Given the description of an element on the screen output the (x, y) to click on. 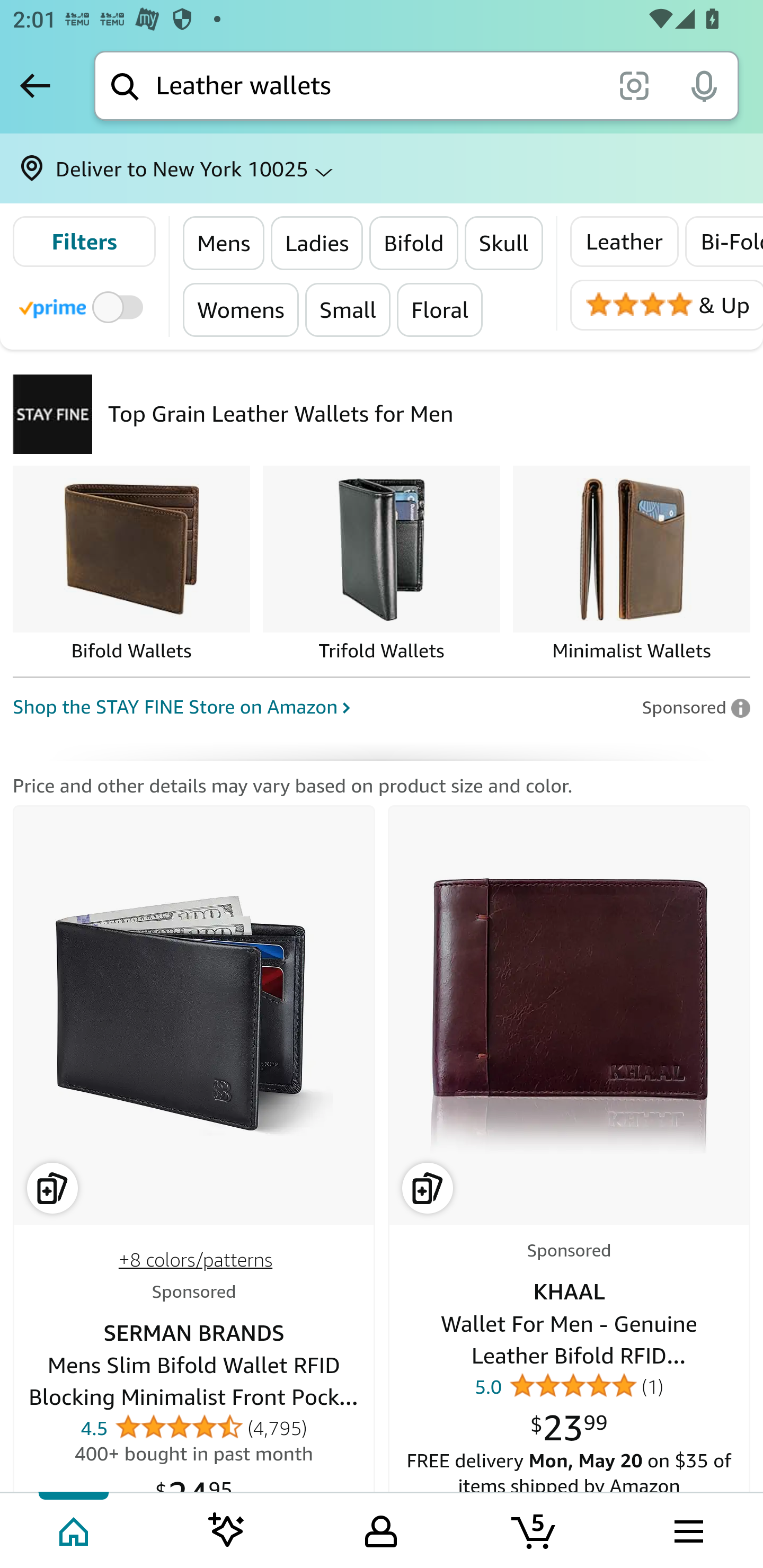
Back (35, 85)
scan it (633, 85)
Deliver to New York 10025 ⌵ (381, 168)
Filters (83, 241)
Mens (224, 242)
Ladies (316, 242)
Bifold (413, 242)
Skull (503, 242)
Leather (624, 241)
Bi-Fold (723, 241)
Toggle to filter by Prime products Prime Eligible (83, 306)
4 Stars & Up (666, 304)
Womens (241, 309)
Small (346, 309)
Floral (438, 309)
Go to store page for "Bifold Wallets". (131, 564)
Go to store page for "Trifold Wallets". (381, 564)
Go to store page for "Minimalist Wallets". (630, 564)
Leave feedback on Sponsored ad (695, 707)
+8 colors/patterns (195, 1259)
Home Tab 1 of 5 (75, 1529)
Inspire feed Tab 2 of 5 (227, 1529)
Your Amazon.com Tab 3 of 5 (380, 1529)
Cart 5 items Tab 4 of 5 5 (534, 1529)
Browse menu Tab 5 of 5 (687, 1529)
